Given the description of an element on the screen output the (x, y) to click on. 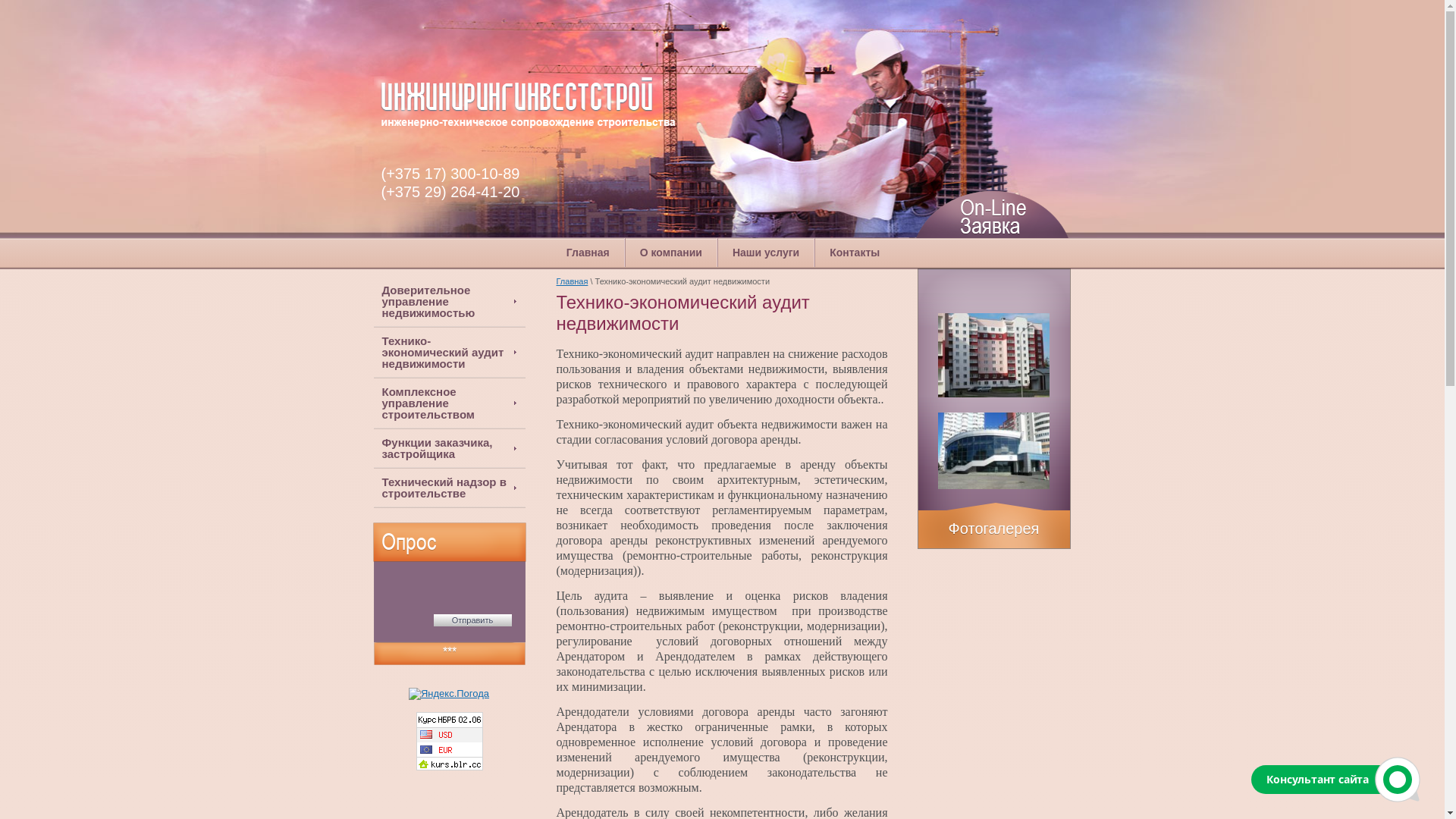
*** Element type: text (448, 652)
